Given the description of an element on the screen output the (x, y) to click on. 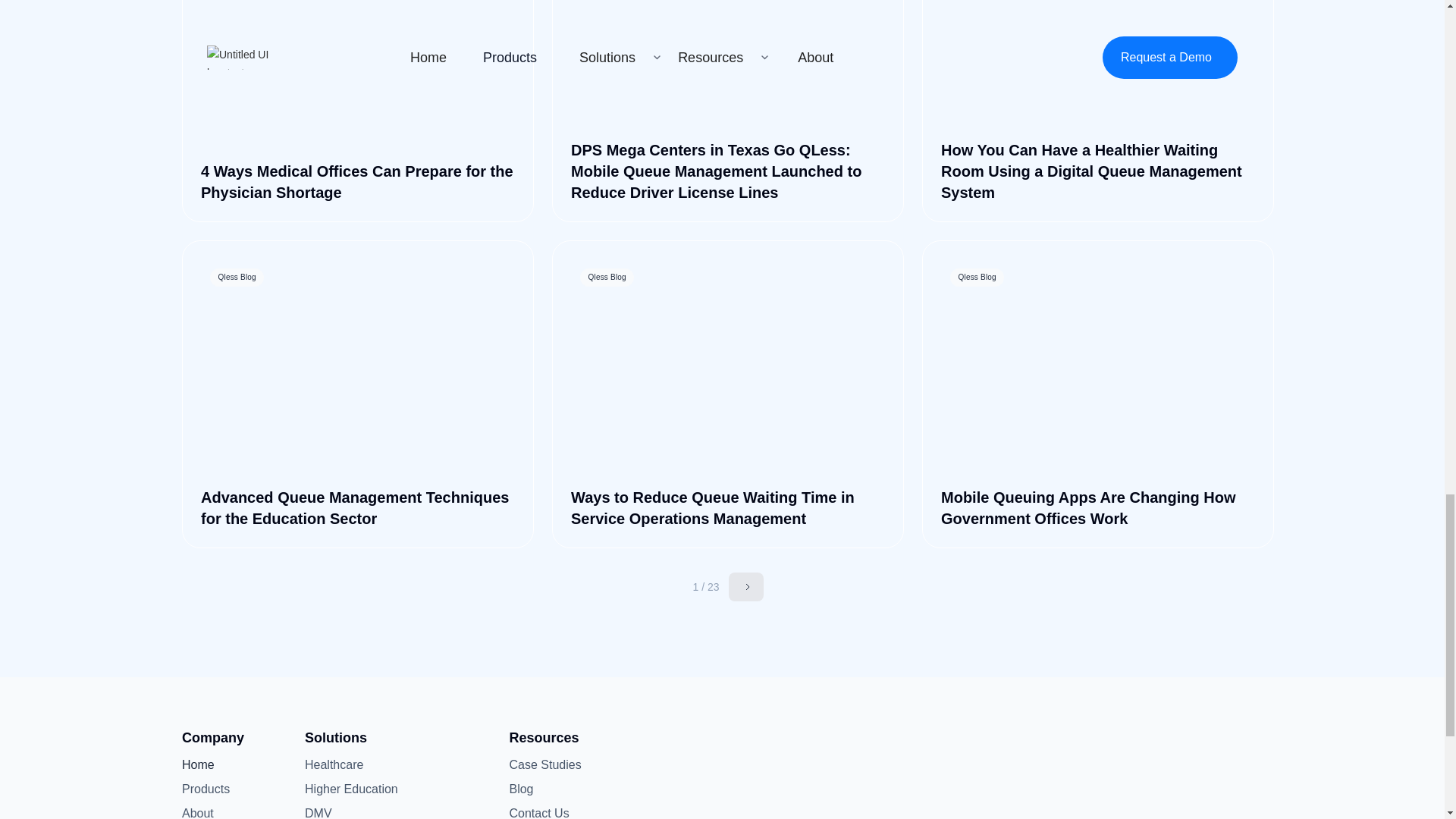
Qless Blog (727, 65)
Qless Blog (357, 65)
Qless Blog (727, 369)
Qless Blog (357, 369)
Qless Blog (1097, 369)
Higher Education (350, 789)
About (206, 811)
Healthcare (333, 764)
Qless Blog (1097, 65)
Products (206, 789)
